Given the description of an element on the screen output the (x, y) to click on. 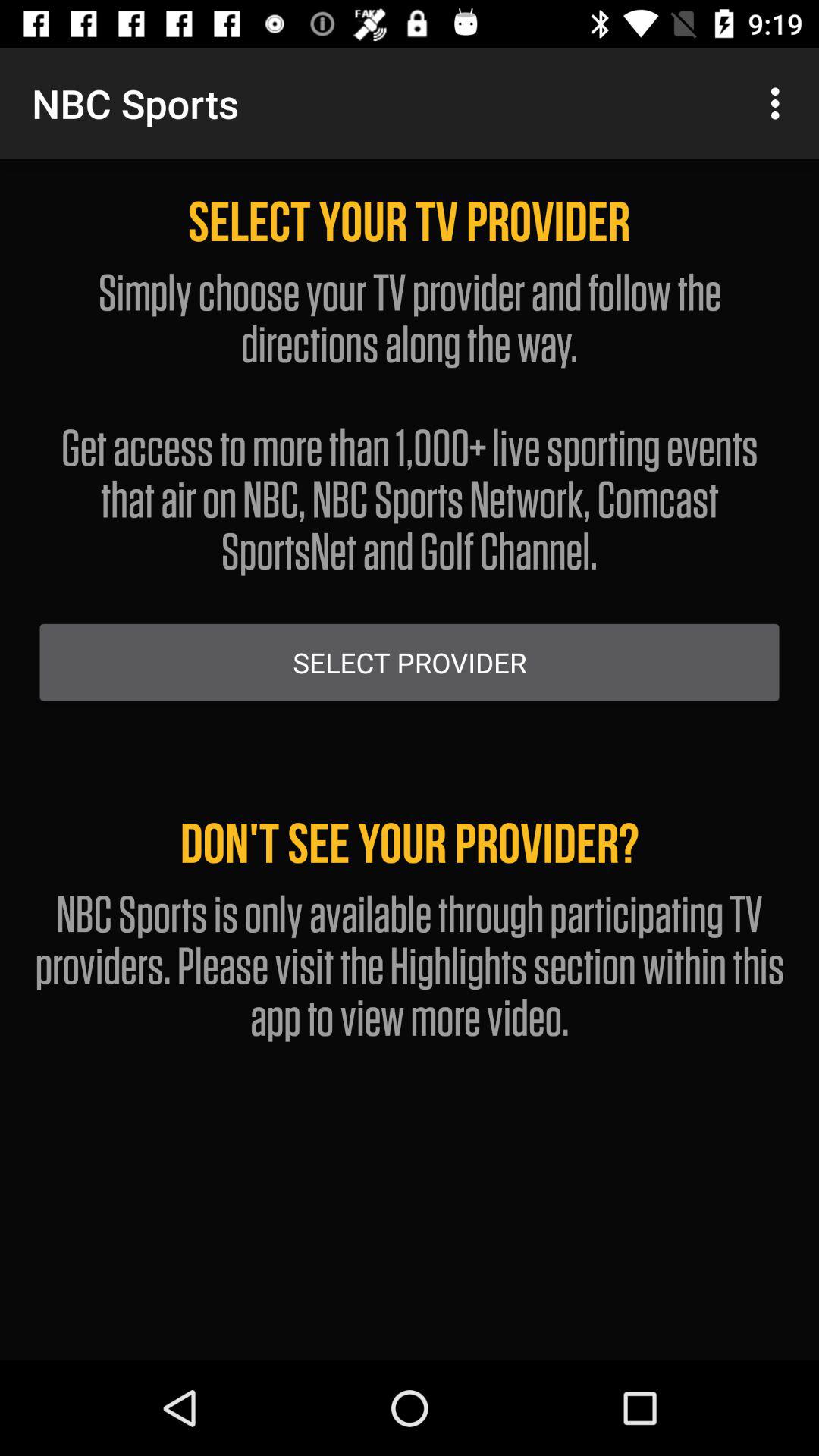
choose item at the top right corner (779, 103)
